Given the description of an element on the screen output the (x, y) to click on. 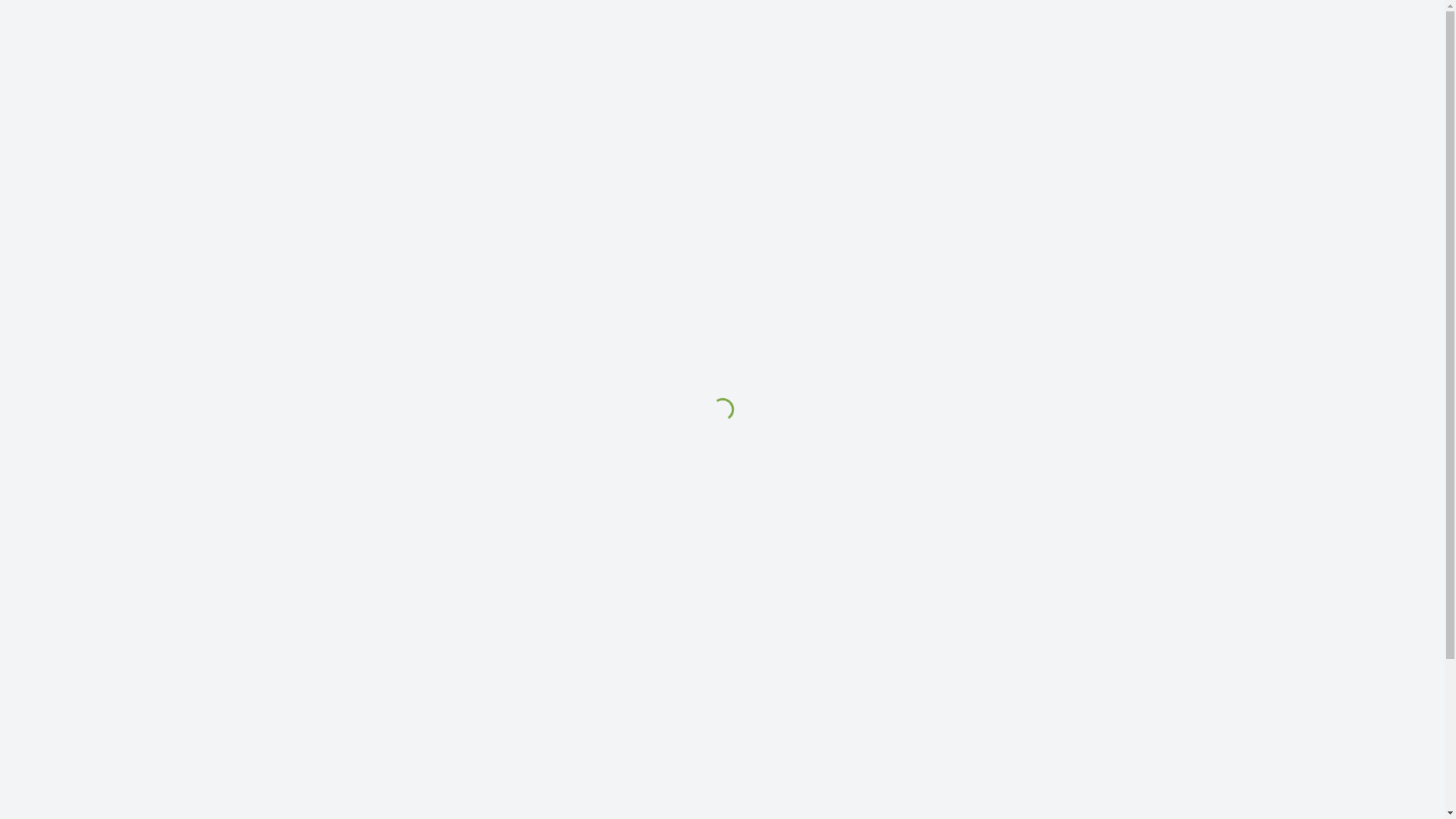
loading Element type: hover (717, 405)
